Given the description of an element on the screen output the (x, y) to click on. 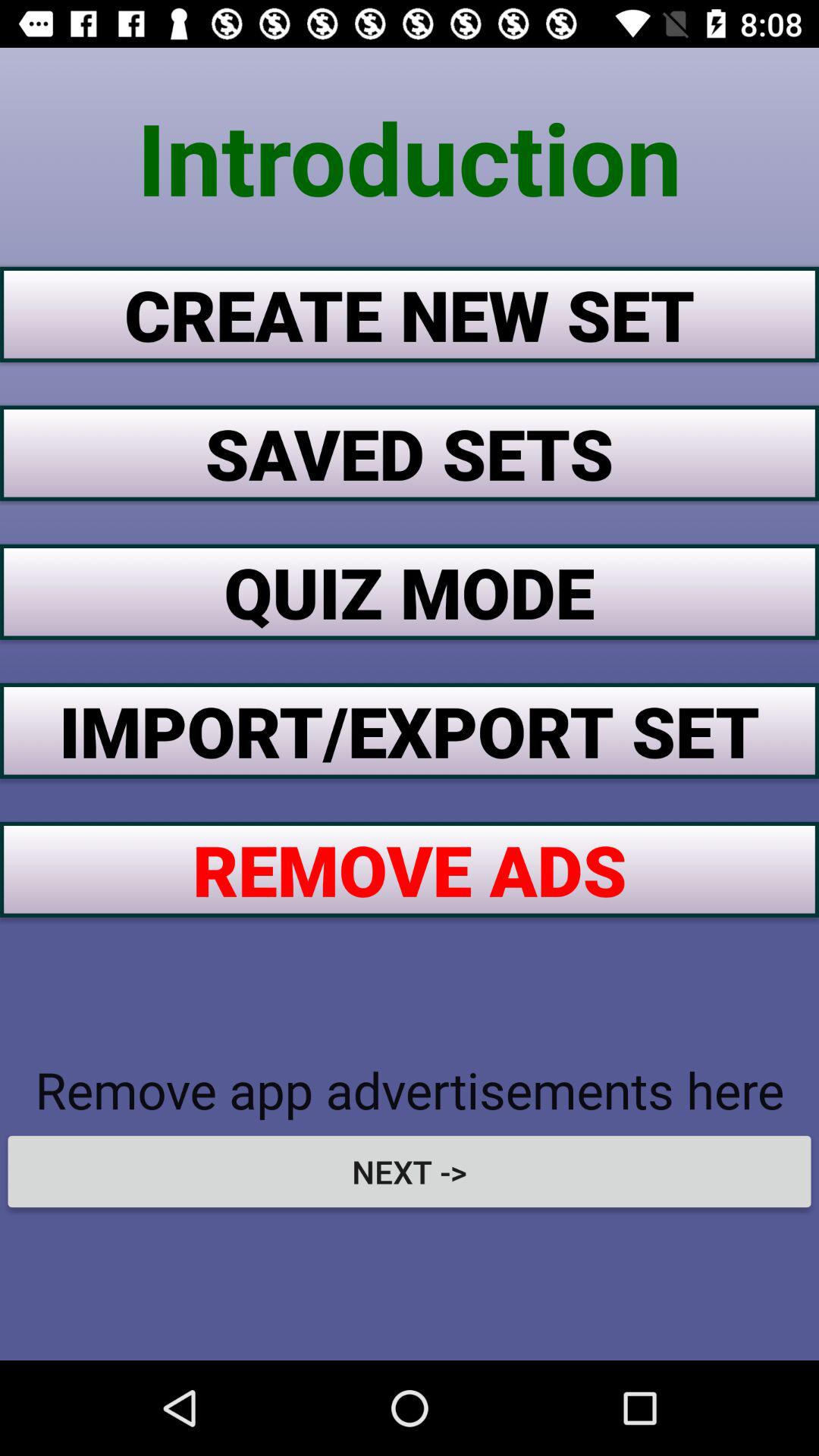
flip to the create new set item (409, 314)
